Given the description of an element on the screen output the (x, y) to click on. 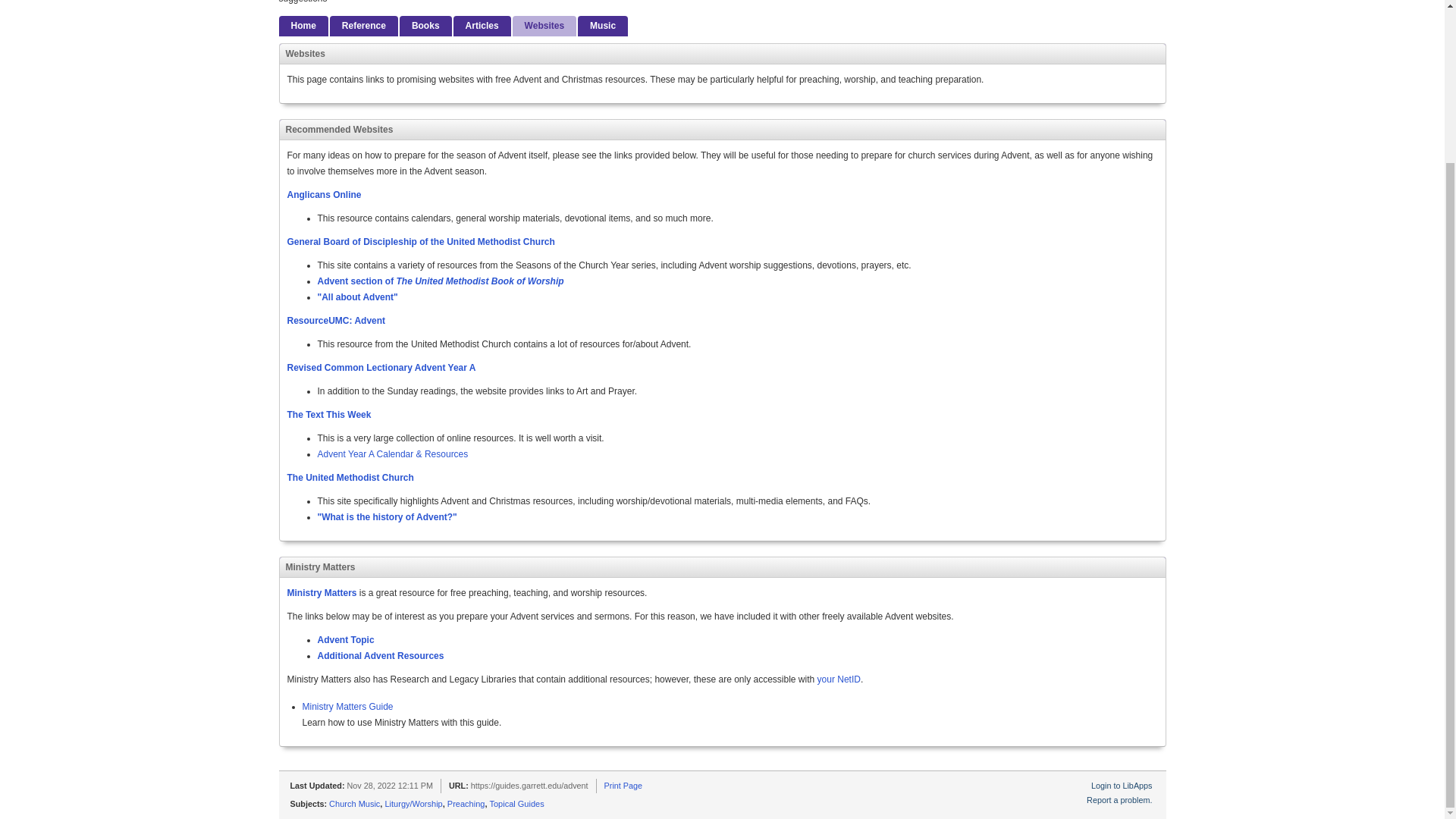
Advent section of The United Methodist Book of Worship (440, 281)
"All about Advent" (357, 296)
Music (602, 25)
Login to LibApps (1120, 785)
Websites (544, 25)
Revised Common Lectionary Advent Year A (381, 367)
ResourceUMC: Advent (335, 320)
Church Music (354, 803)
Link to the Revised Common Lectionary (381, 367)
Ministry Matters (321, 593)
Reference (363, 25)
Ministry Matters Guide (347, 706)
Report a problem. (1118, 799)
Preaching (465, 803)
